Given the description of an element on the screen output the (x, y) to click on. 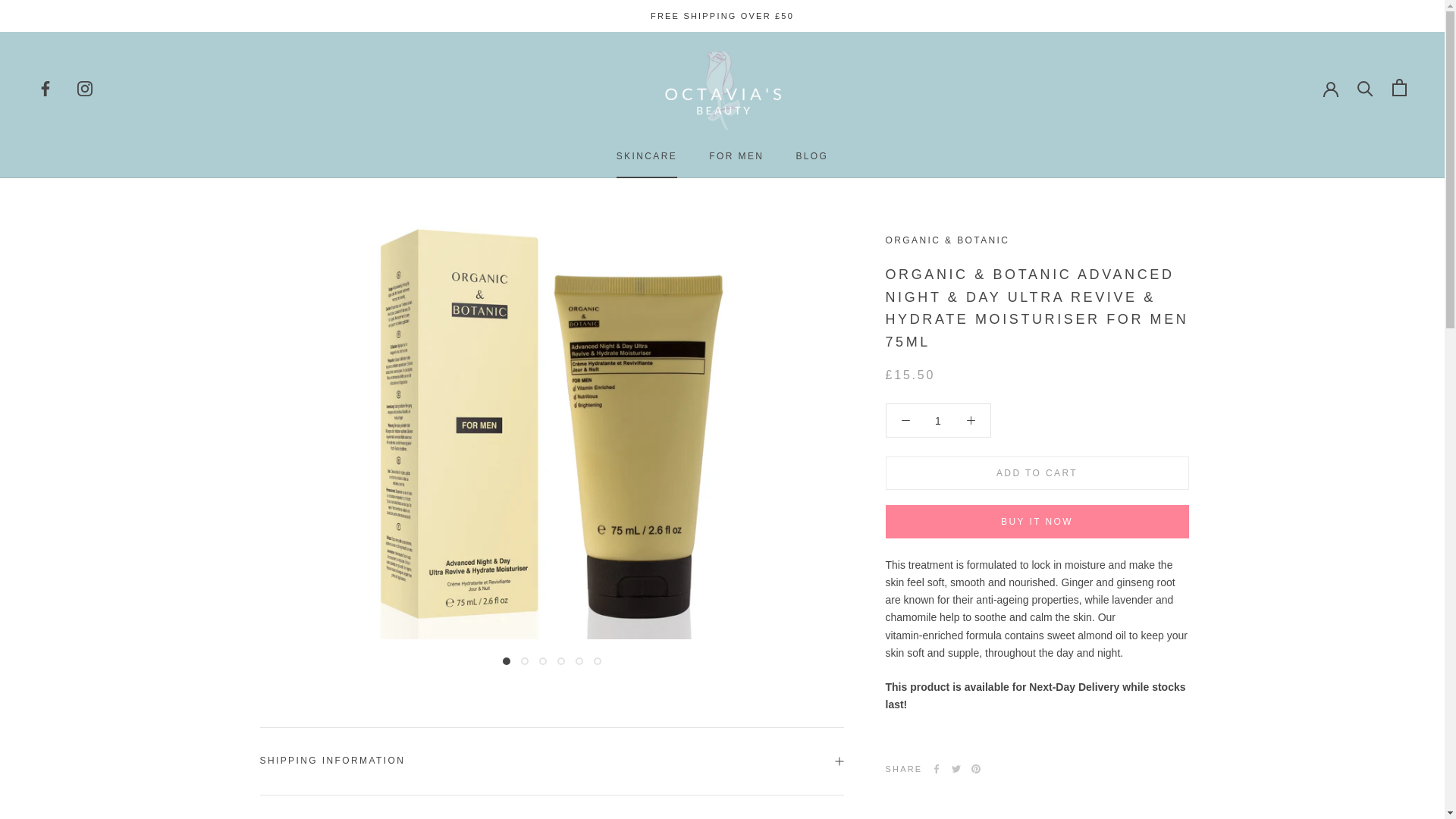
ADD TO CART (1037, 472)
BUY IT NOW (1037, 521)
1 (646, 155)
